Given the description of an element on the screen output the (x, y) to click on. 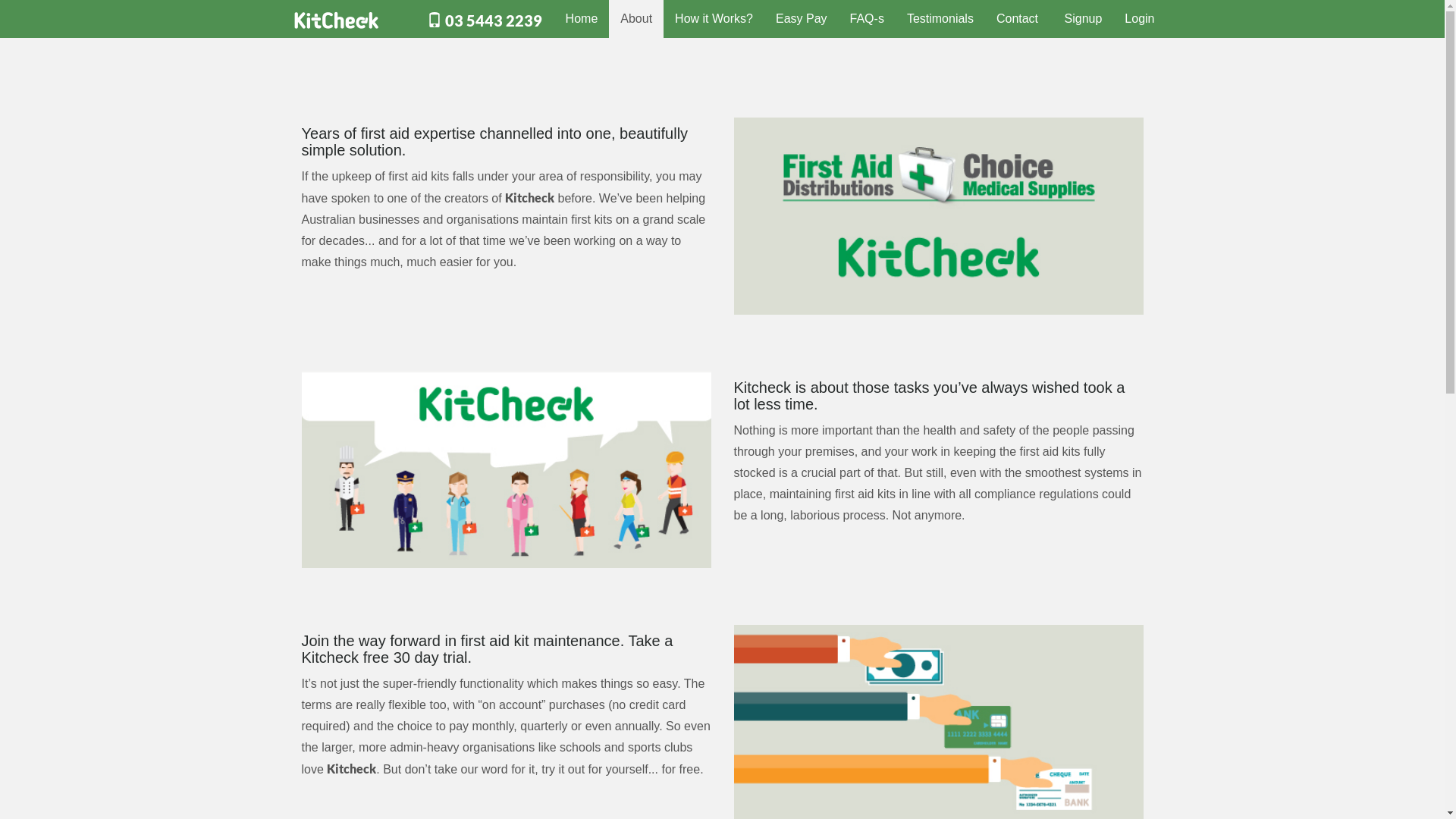
Home Element type: text (581, 18)
FAQ-s Element type: text (866, 18)
About Element type: text (635, 18)
Testimonials Element type: text (940, 18)
Signup Element type: text (1083, 18)
How it Works? Element type: text (713, 18)
Easy Pay Element type: text (801, 18)
Login Element type: text (1139, 18)
Contact Element type: text (1017, 18)
